Given the description of an element on the screen output the (x, y) to click on. 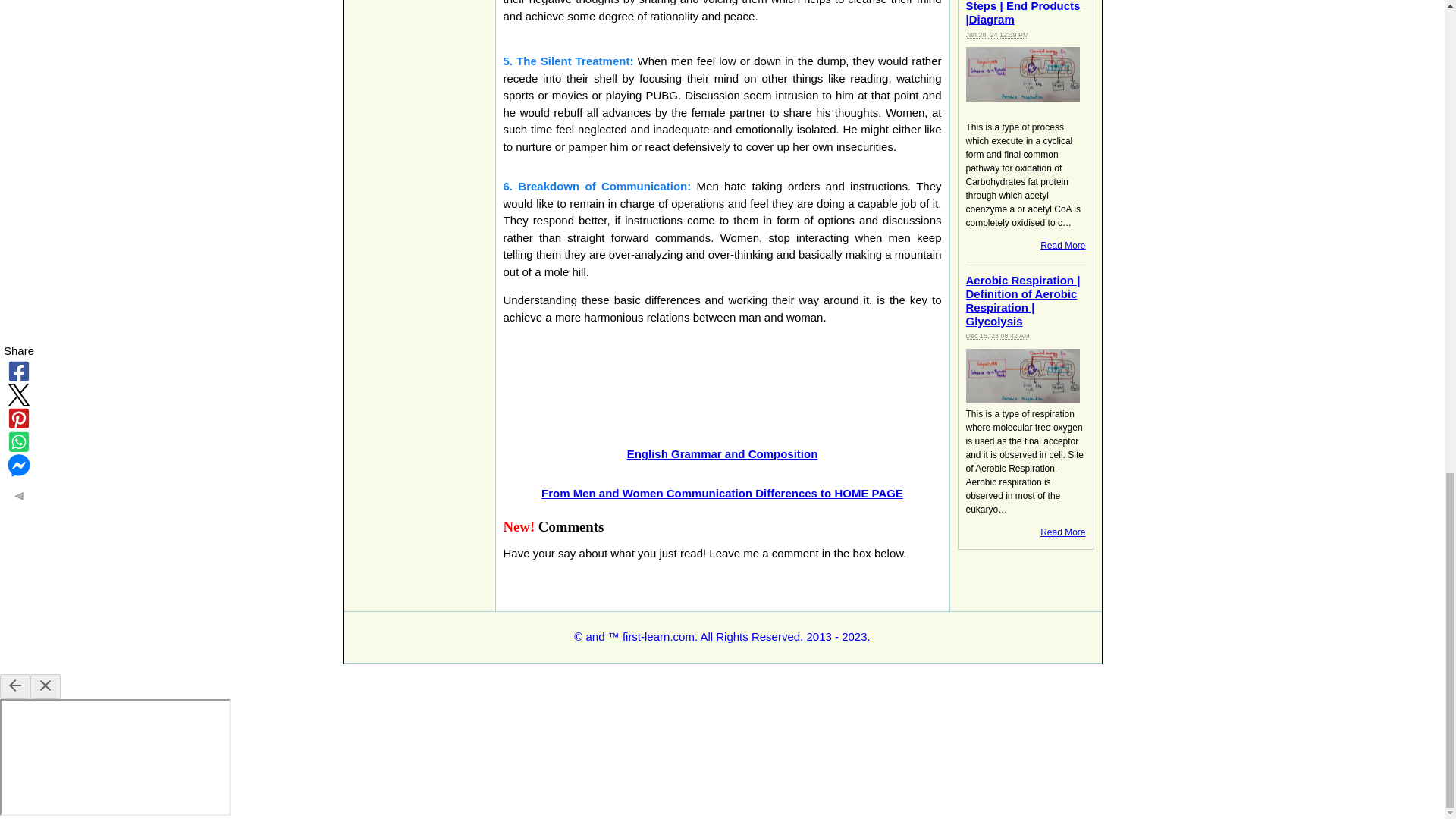
From Men and Women Communication Differences to HOME PAGE (721, 492)
Read More (1062, 532)
English Grammar and Composition (722, 453)
2024-01-28T12:39:03-0500 (997, 34)
2023-12-15T08:42:15-0500 (997, 335)
Read More (1062, 245)
